Given the description of an element on the screen output the (x, y) to click on. 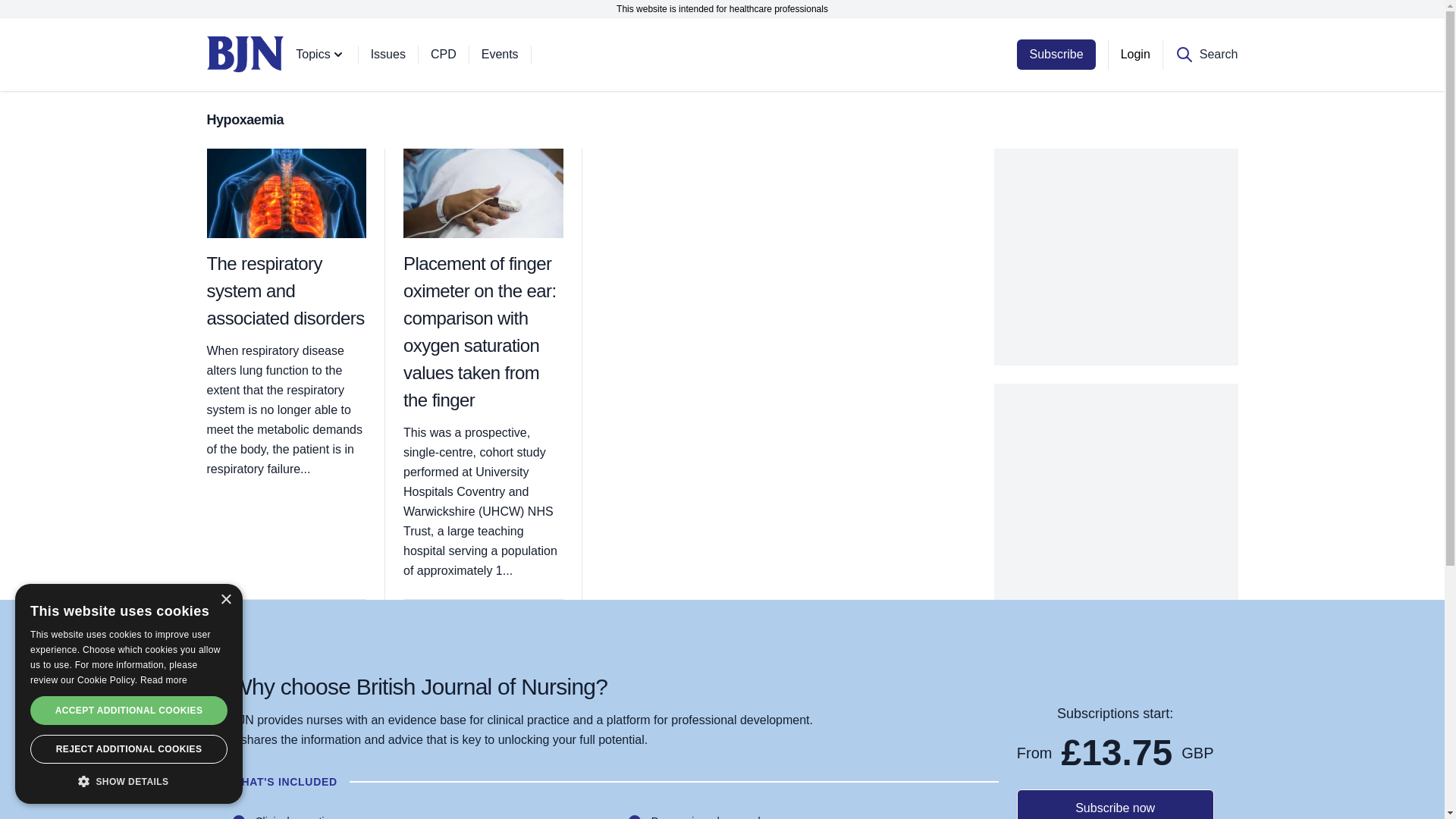
3rd party ad content (1116, 243)
3rd party ad content (1116, 478)
Issues (400, 54)
Topics (332, 54)
